Given the description of an element on the screen output the (x, y) to click on. 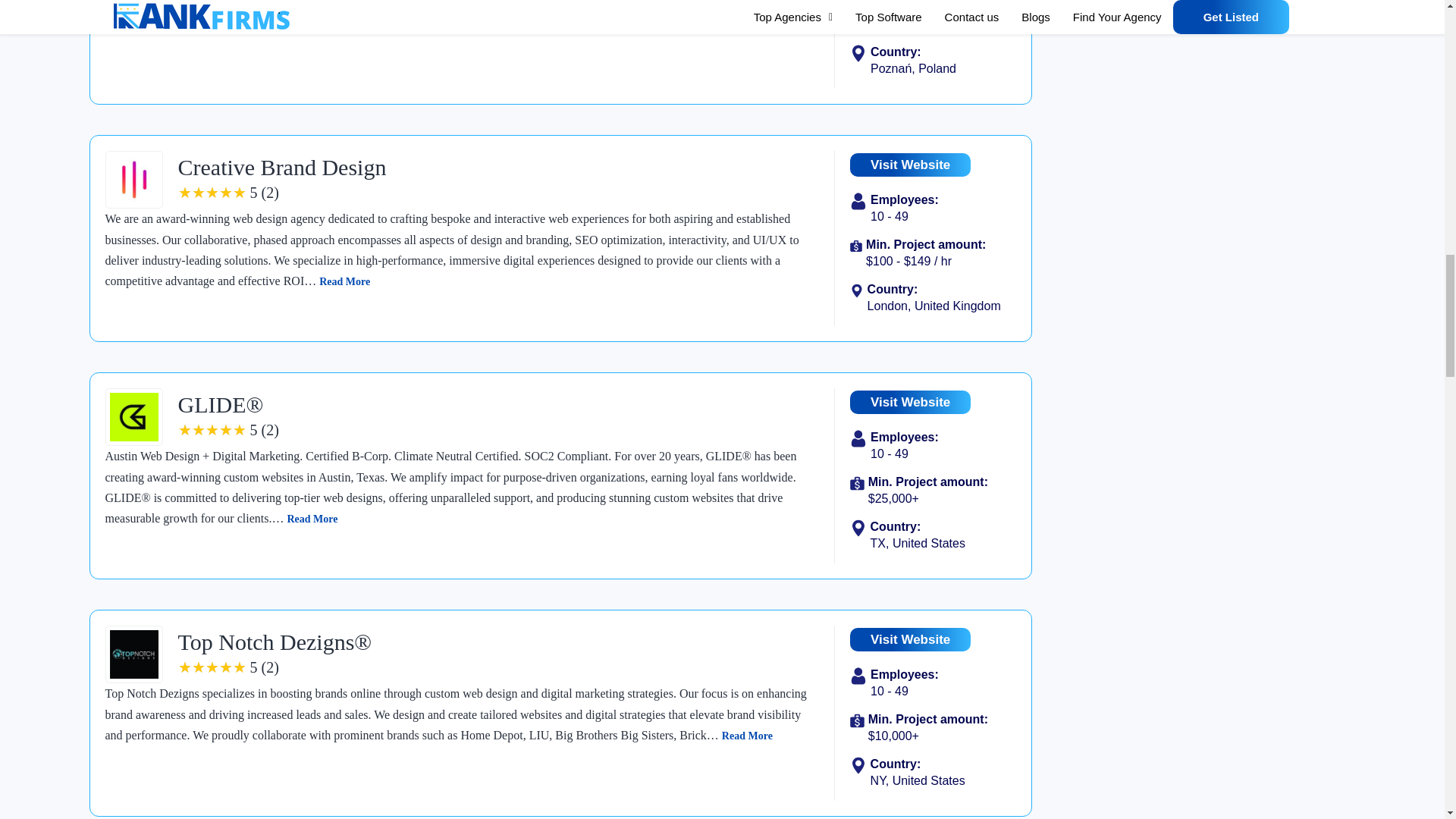
Creative Brand Design (281, 166)
Visit Website (910, 164)
Read More (343, 281)
Read More (527, 23)
